Given the description of an element on the screen output the (x, y) to click on. 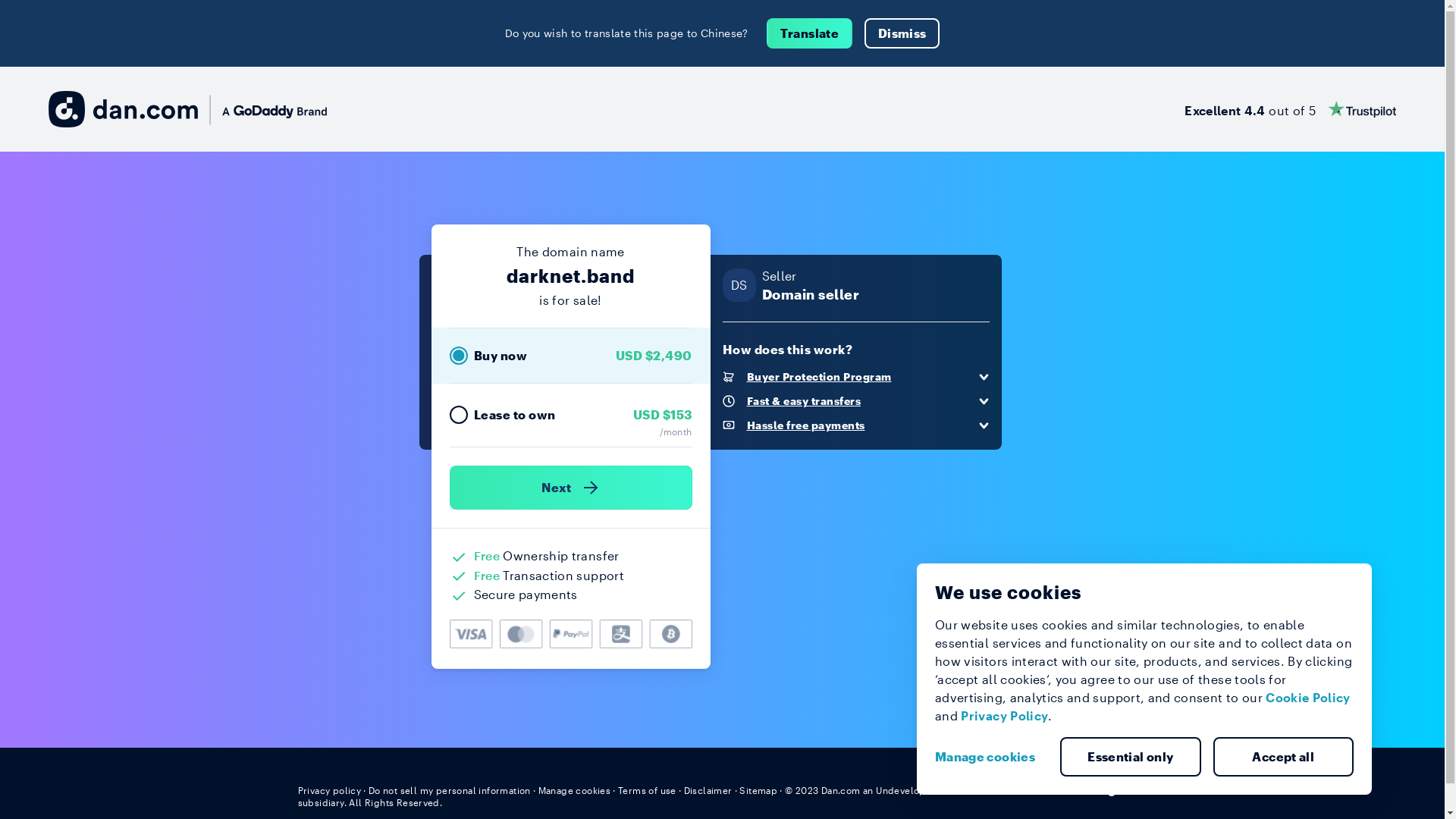
Do not sell my personal information Element type: text (449, 789)
Disclaimer Element type: text (708, 789)
Next
) Element type: text (569, 487)
Dismiss Element type: text (901, 33)
Translate Element type: text (809, 33)
Sitemap Element type: text (758, 789)
Accept all Element type: text (1283, 756)
Privacy Policy Element type: text (1004, 715)
Terms of use Element type: text (647, 789)
Manage cookies Element type: text (574, 790)
Cookie Policy Element type: text (1307, 697)
English Element type: text (1119, 789)
Essential only Element type: text (1130, 756)
Excellent 4.4 out of 5 Element type: text (1290, 109)
Privacy policy Element type: text (328, 789)
Manage cookies Element type: text (991, 756)
